Given the description of an element on the screen output the (x, y) to click on. 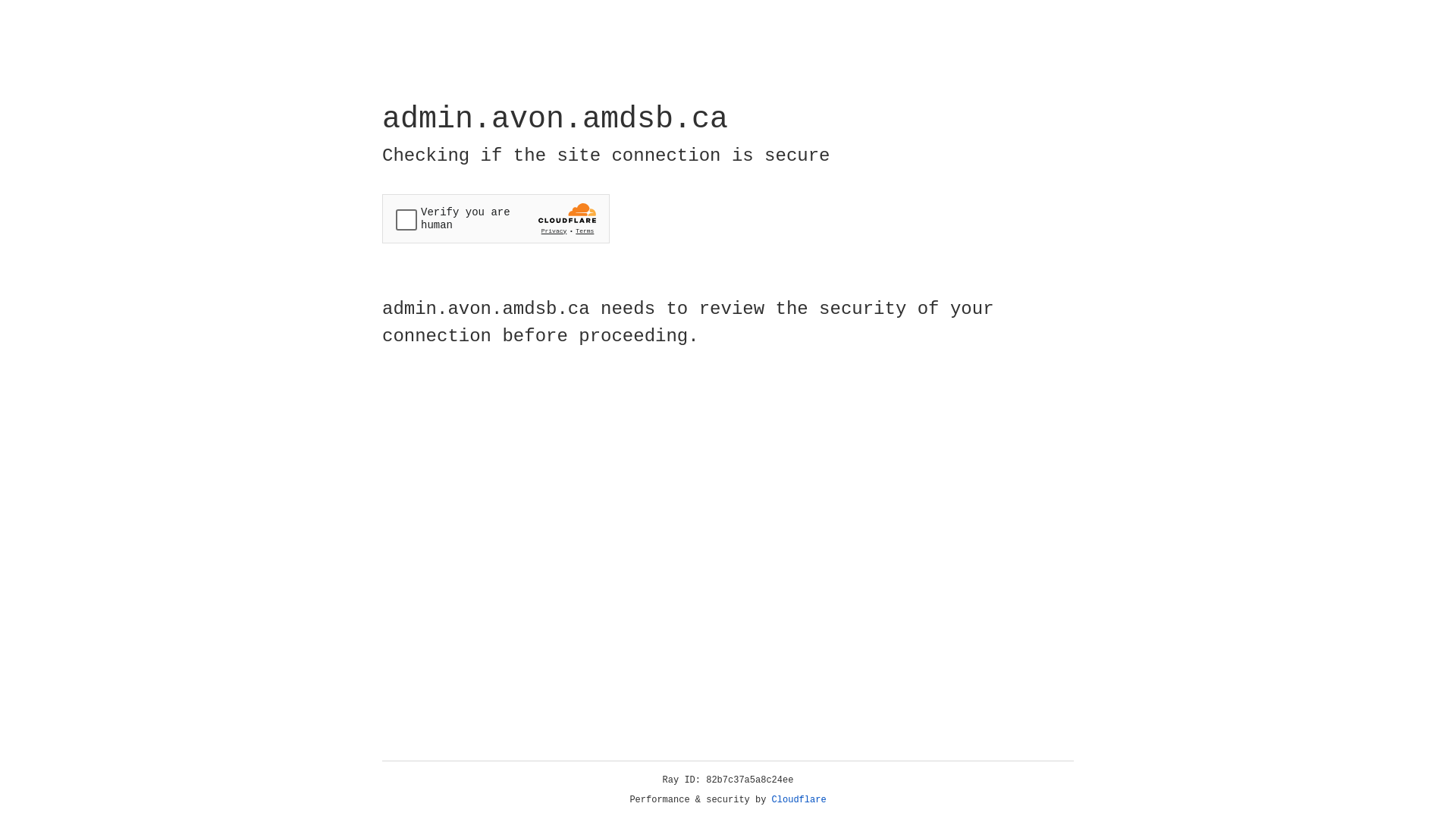
Cloudflare Element type: text (798, 799)
Widget containing a Cloudflare security challenge Element type: hover (495, 218)
